Given the description of an element on the screen output the (x, y) to click on. 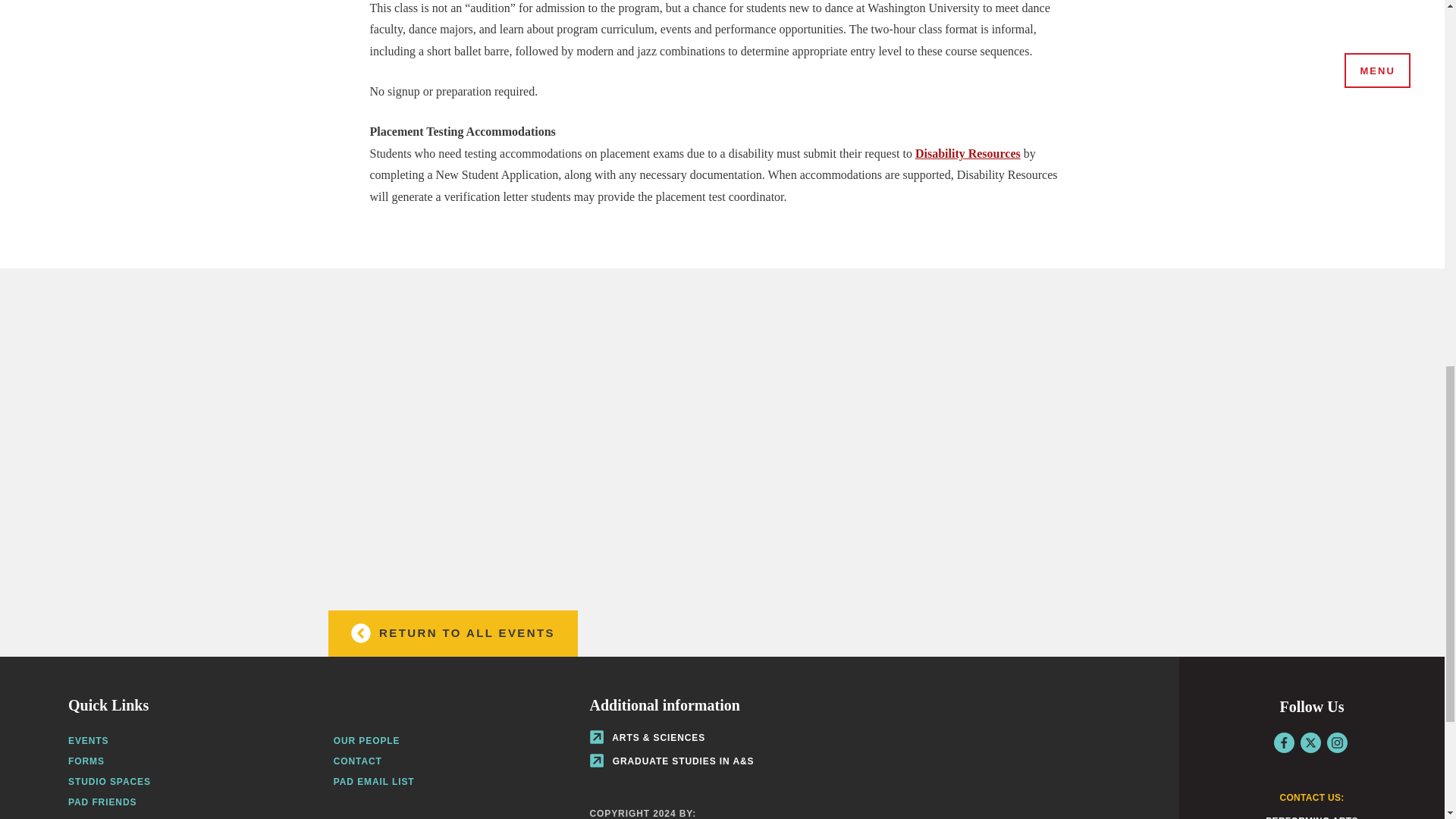
Disability Resources (967, 153)
PAD FRIENDS (102, 801)
PAD EMAIL LIST (373, 781)
RETURN TO ALL EVENTS (451, 633)
Return to All Events (451, 633)
OUR PEOPLE (366, 740)
CONTACT (357, 760)
STUDIO SPACES (109, 781)
Twitter (1310, 742)
EVENTS (87, 740)
Facebook (1284, 742)
FORMS (86, 760)
